Given the description of an element on the screen output the (x, y) to click on. 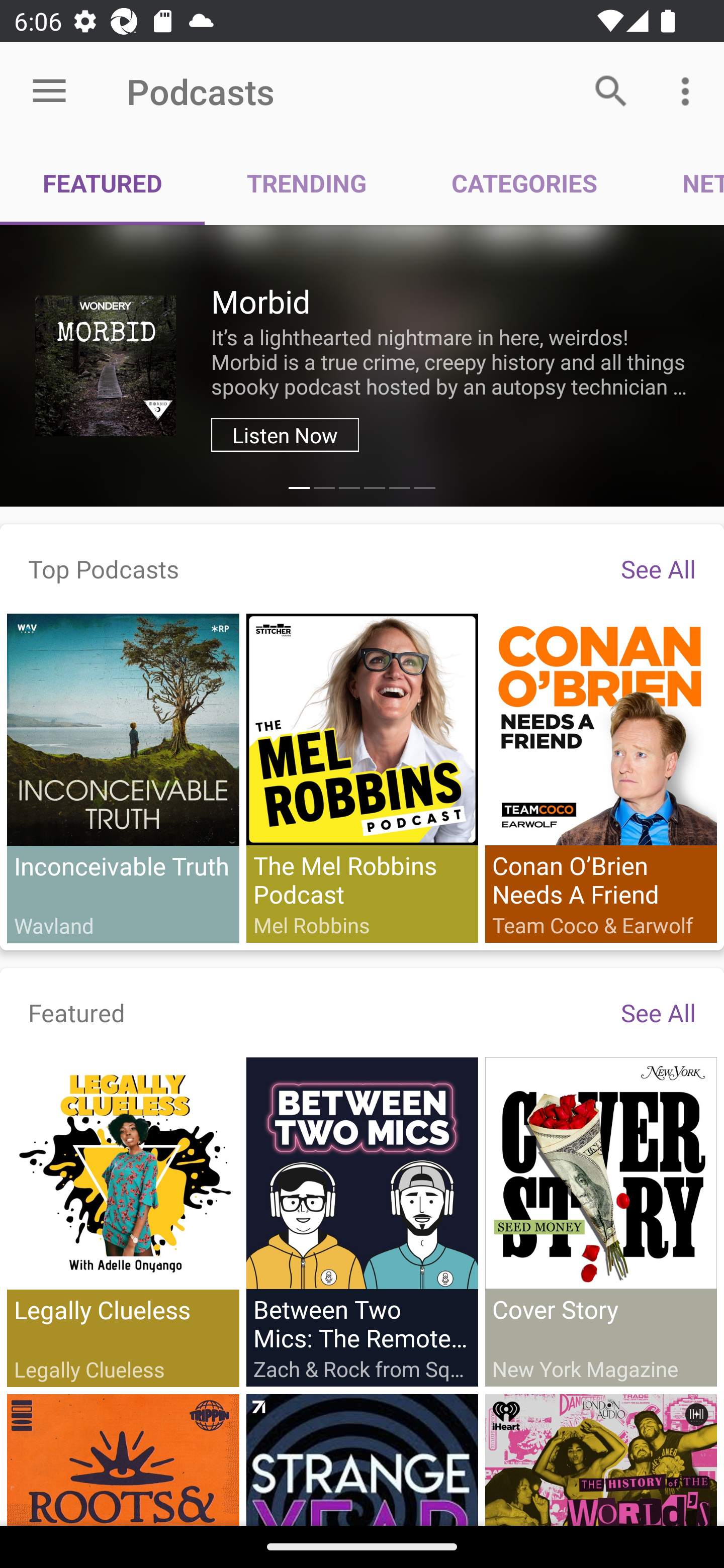
Open menu (49, 91)
Search (611, 90)
More options (688, 90)
FEATURED (102, 183)
TRENDING (306, 183)
CATEGORIES (524, 183)
Top Podcasts (103, 567)
See All (658, 567)
Inconceivable Truth Wavland (123, 778)
The Mel Robbins Podcast Mel Robbins (361, 777)
Conan O’Brien Needs A Friend Team Coco & Earwolf (600, 777)
Featured (76, 1011)
See All (658, 1011)
Legally Clueless (123, 1221)
Cover Story New York Magazine (600, 1221)
